Given the description of an element on the screen output the (x, y) to click on. 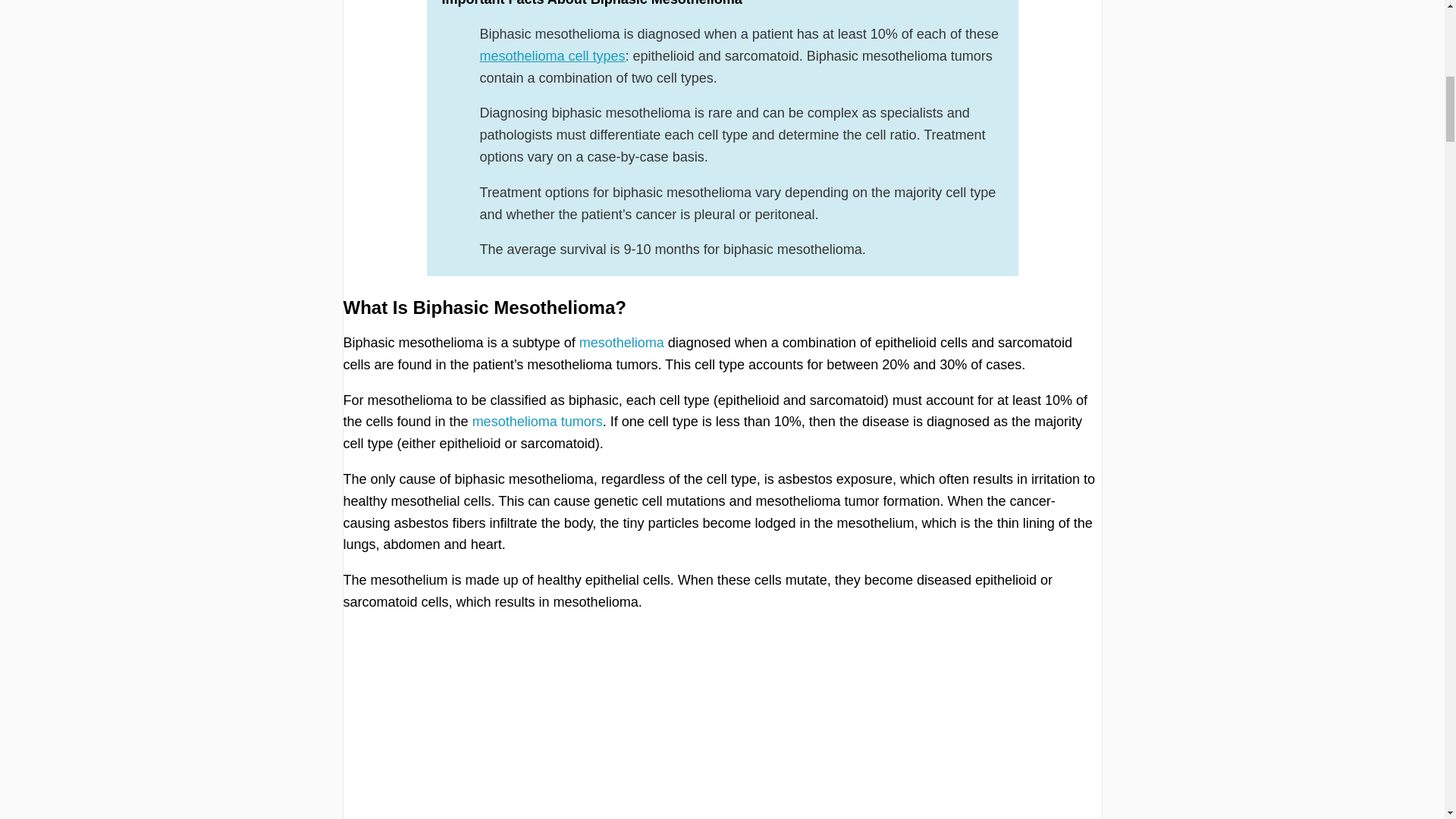
mesothelioma types (551, 55)
